Given the description of an element on the screen output the (x, y) to click on. 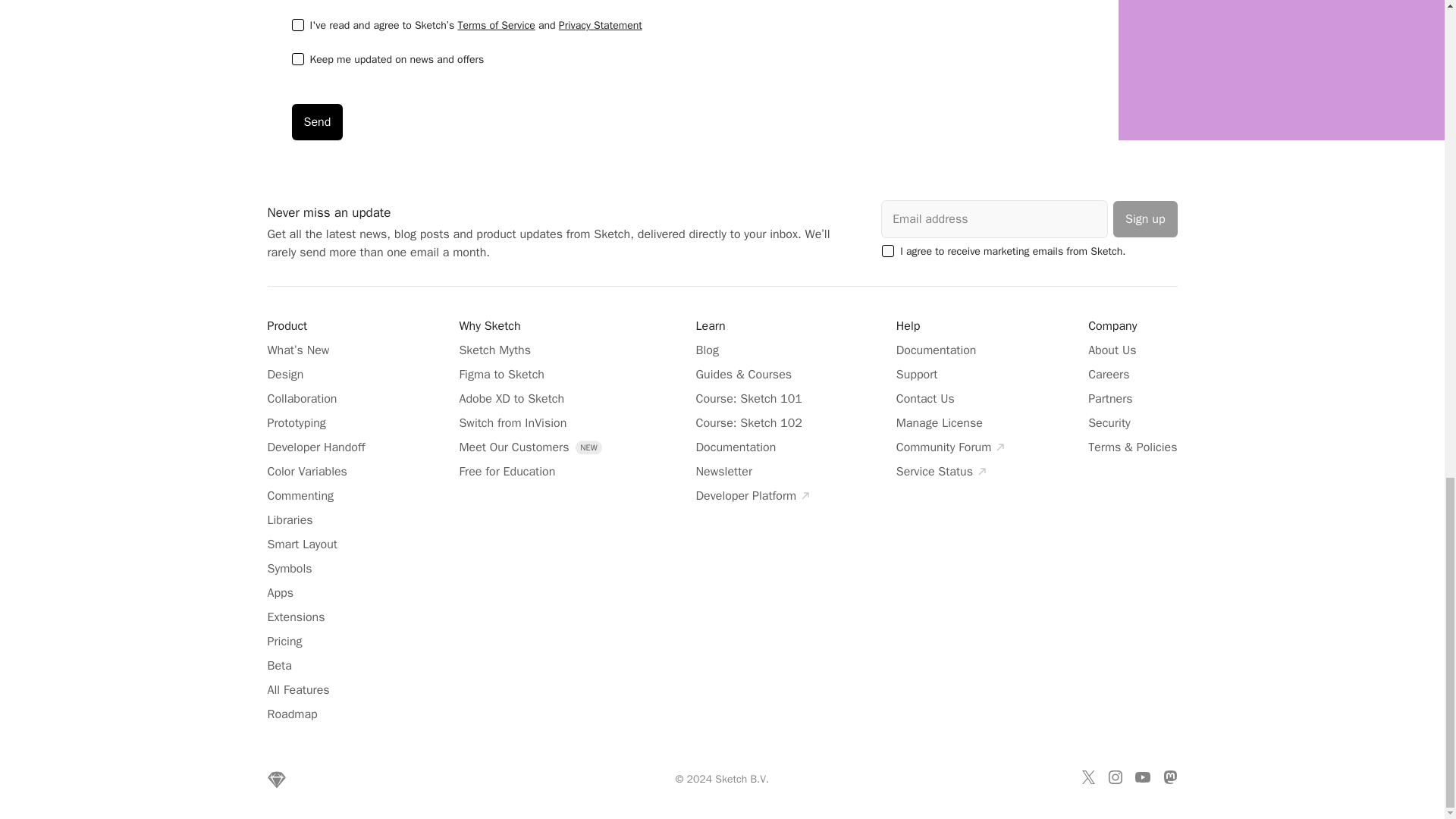
on (887, 250)
on (296, 59)
on (296, 24)
